Given the description of an element on the screen output the (x, y) to click on. 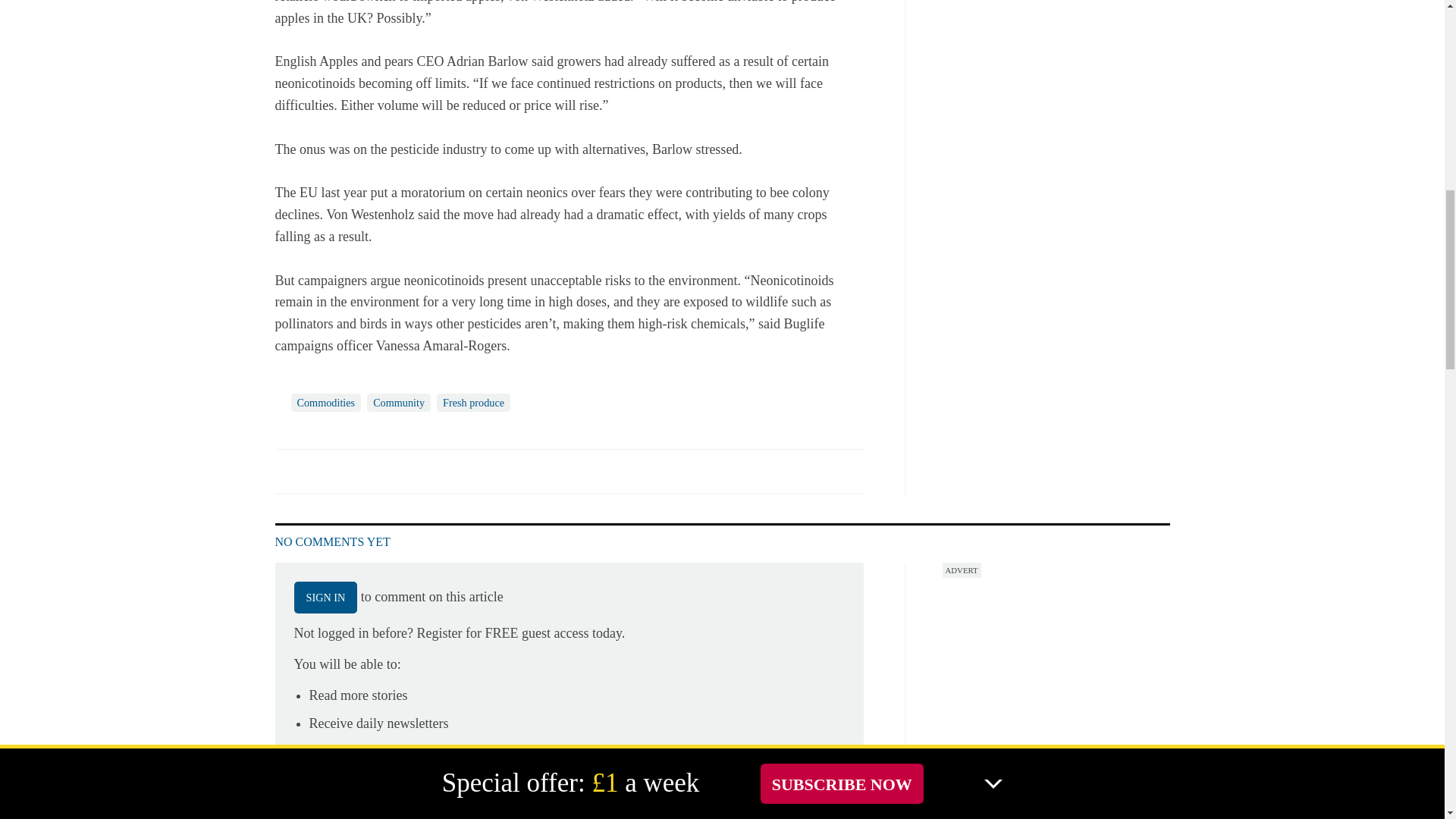
No comments (840, 479)
Share this on Facebook (288, 470)
Share this on Twitter (320, 470)
Share this on Linked in (352, 470)
Email this article (386, 470)
